Given the description of an element on the screen output the (x, y) to click on. 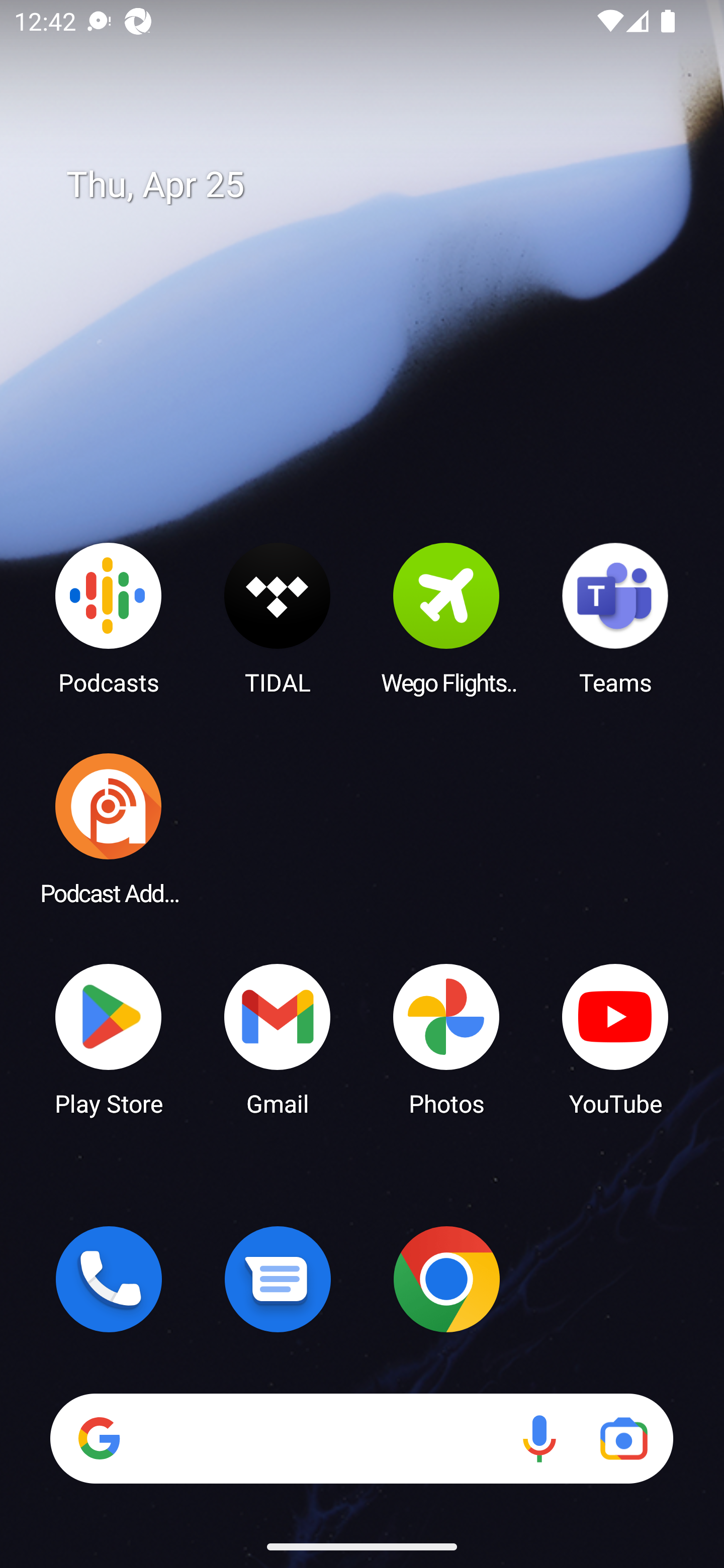
Thu, Apr 25 (375, 184)
Podcasts (108, 617)
TIDAL (277, 617)
Wego Flights & Hotels (445, 617)
Teams (615, 617)
Podcast Addict (108, 828)
Play Store (108, 1038)
Gmail (277, 1038)
Photos (445, 1038)
YouTube (615, 1038)
Phone (108, 1279)
Messages (277, 1279)
Chrome (446, 1279)
Search Voice search Google Lens (361, 1438)
Voice search (539, 1438)
Google Lens (623, 1438)
